Given the description of an element on the screen output the (x, y) to click on. 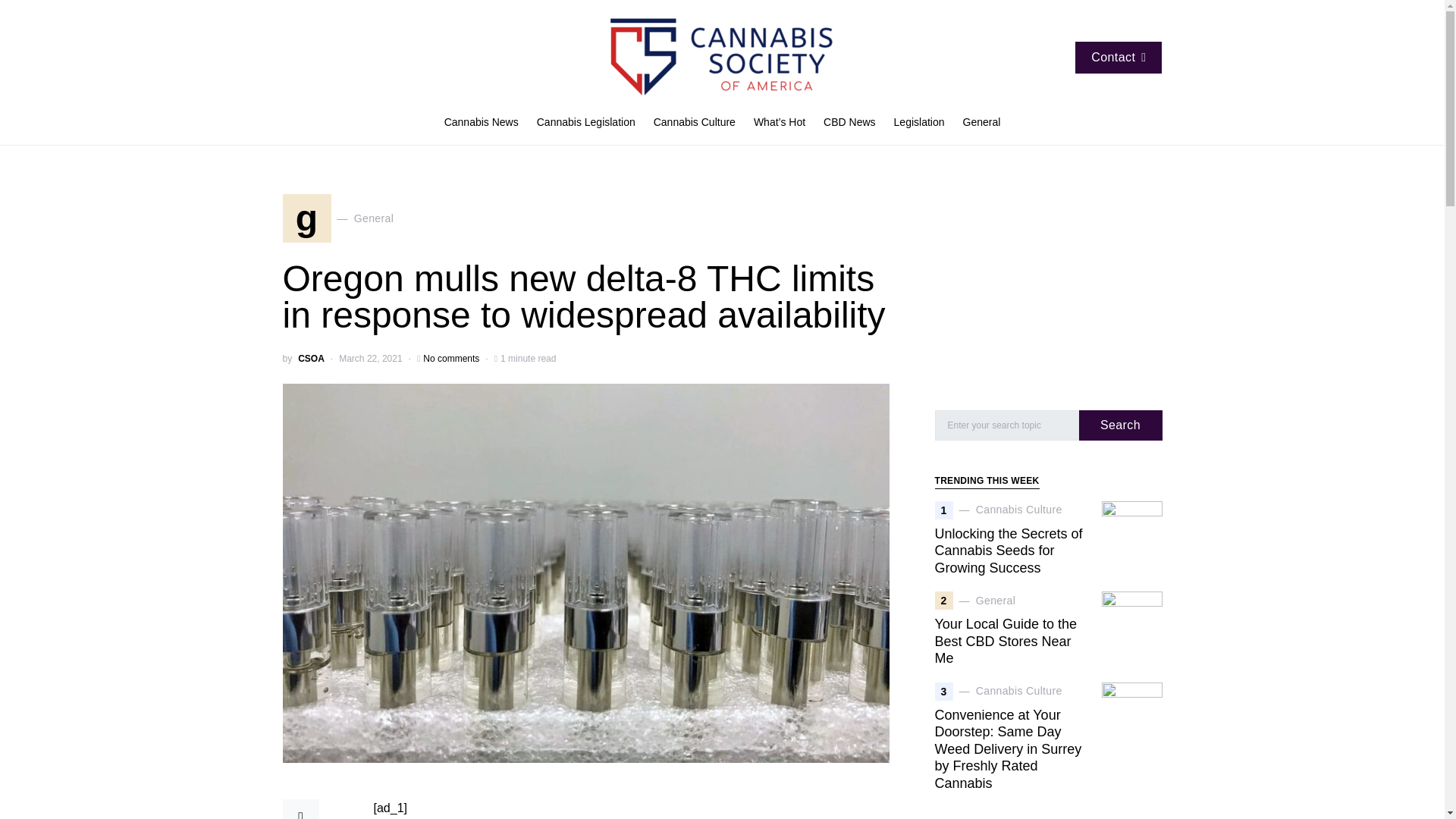
Legislation (919, 122)
No comments (451, 358)
View all posts by CSOA (311, 358)
Contact (1118, 57)
Cannabis News (485, 122)
CSOA (311, 358)
Cannabis Culture (694, 122)
CBD News (848, 122)
Cannabis Legislation (337, 218)
